Given the description of an element on the screen output the (x, y) to click on. 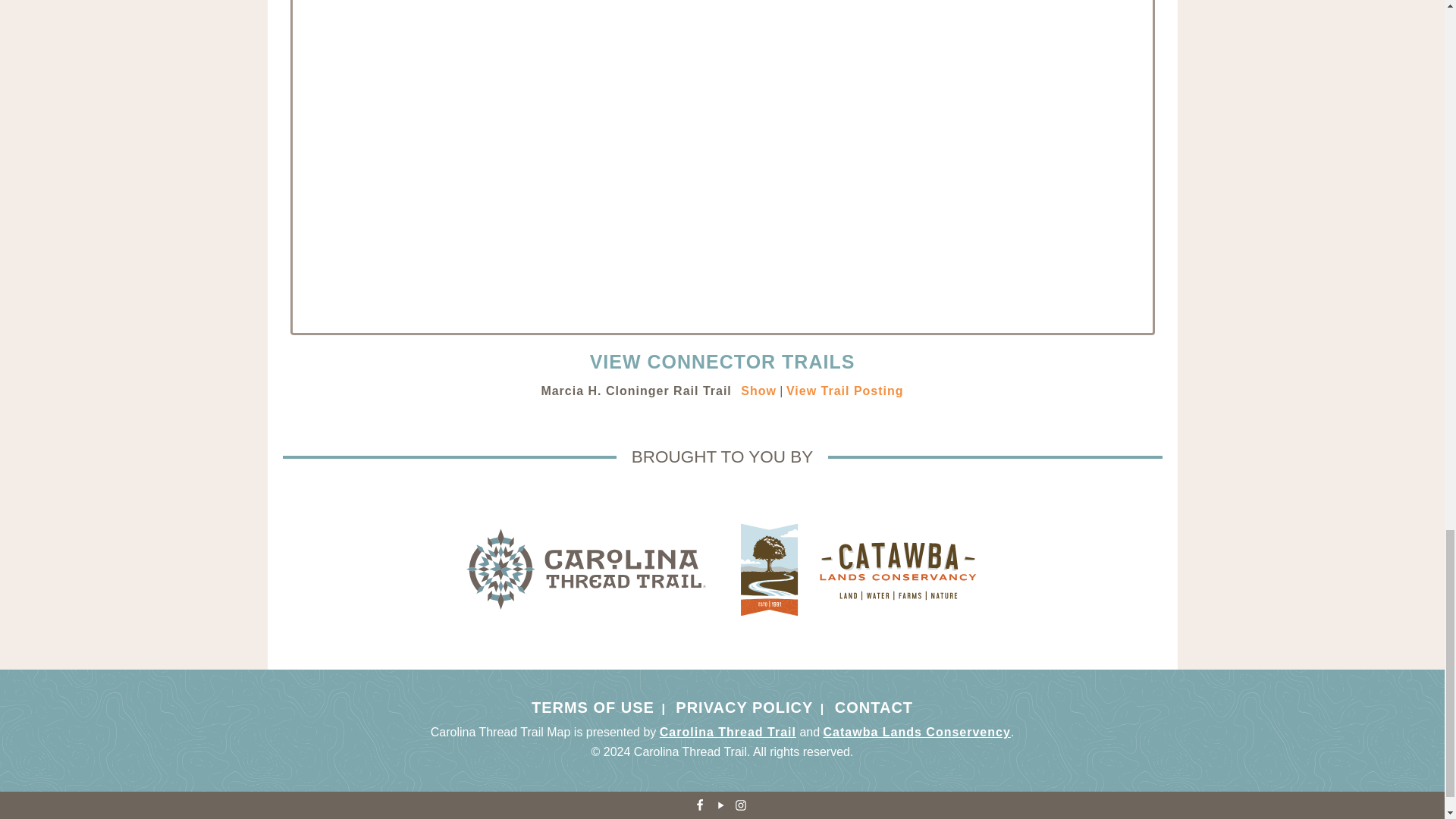
Follow us on Facebook (698, 805)
Follow us on Instagram (740, 805)
Follow us on Youtube (720, 805)
